Given the description of an element on the screen output the (x, y) to click on. 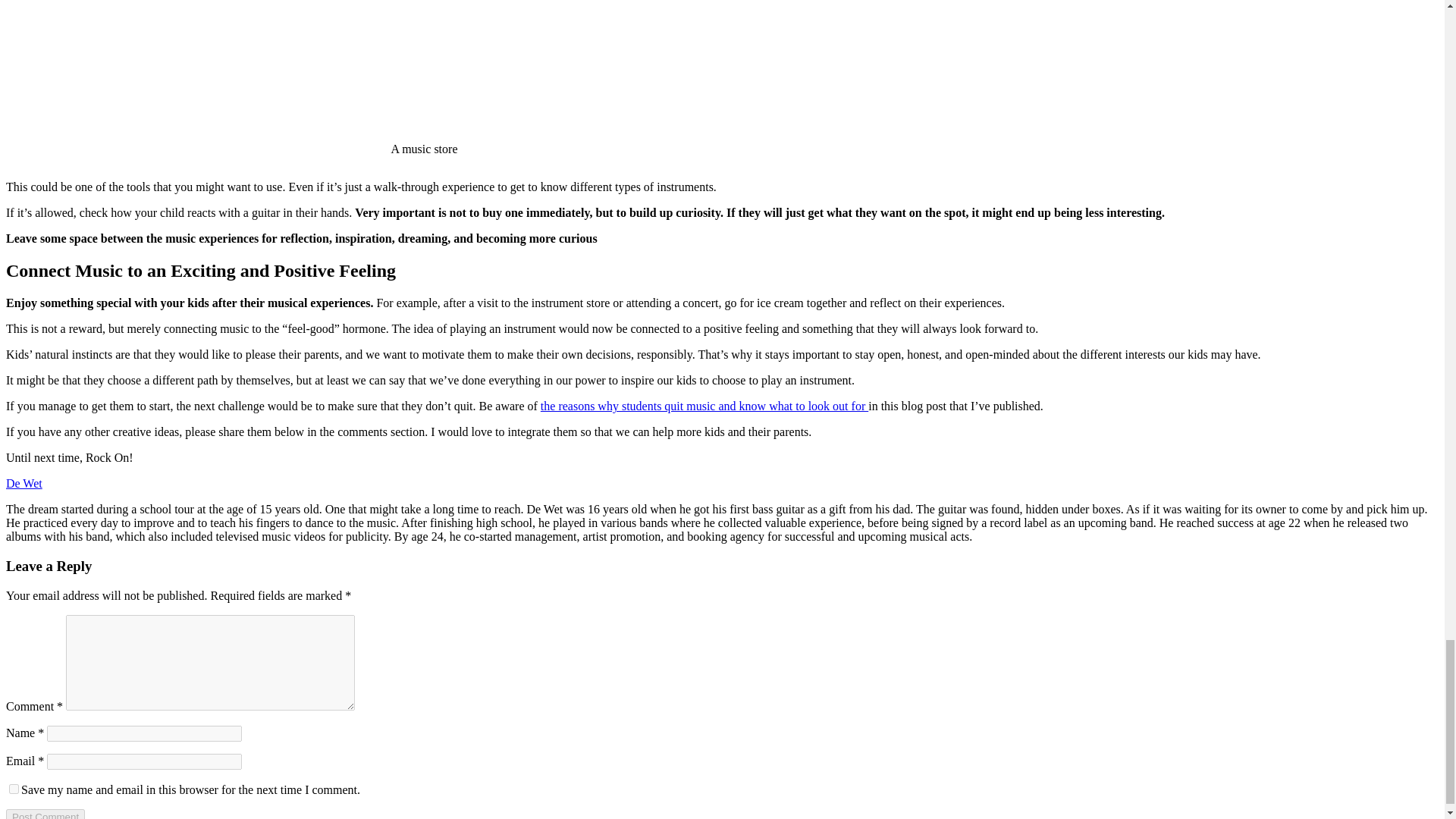
yes (13, 788)
De Wet (23, 482)
